Given the description of an element on the screen output the (x, y) to click on. 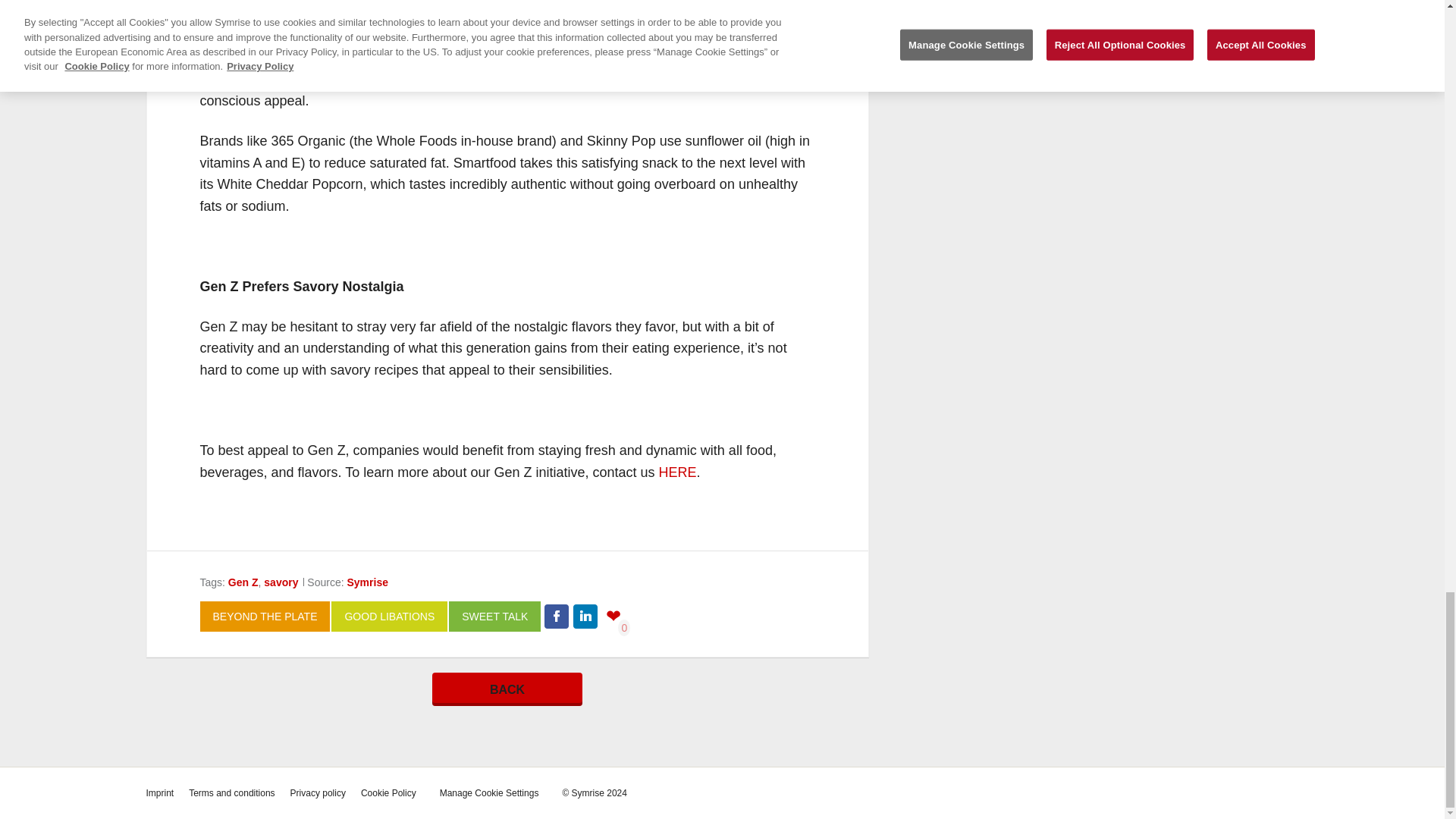
GOOD LIBATIONS (388, 616)
savory (280, 582)
HERE (676, 472)
SWEET TALK (494, 616)
Symrise (367, 582)
Gen Z (243, 582)
BACK (507, 688)
BEYOND THE PLATE (265, 616)
